Given the description of an element on the screen output the (x, y) to click on. 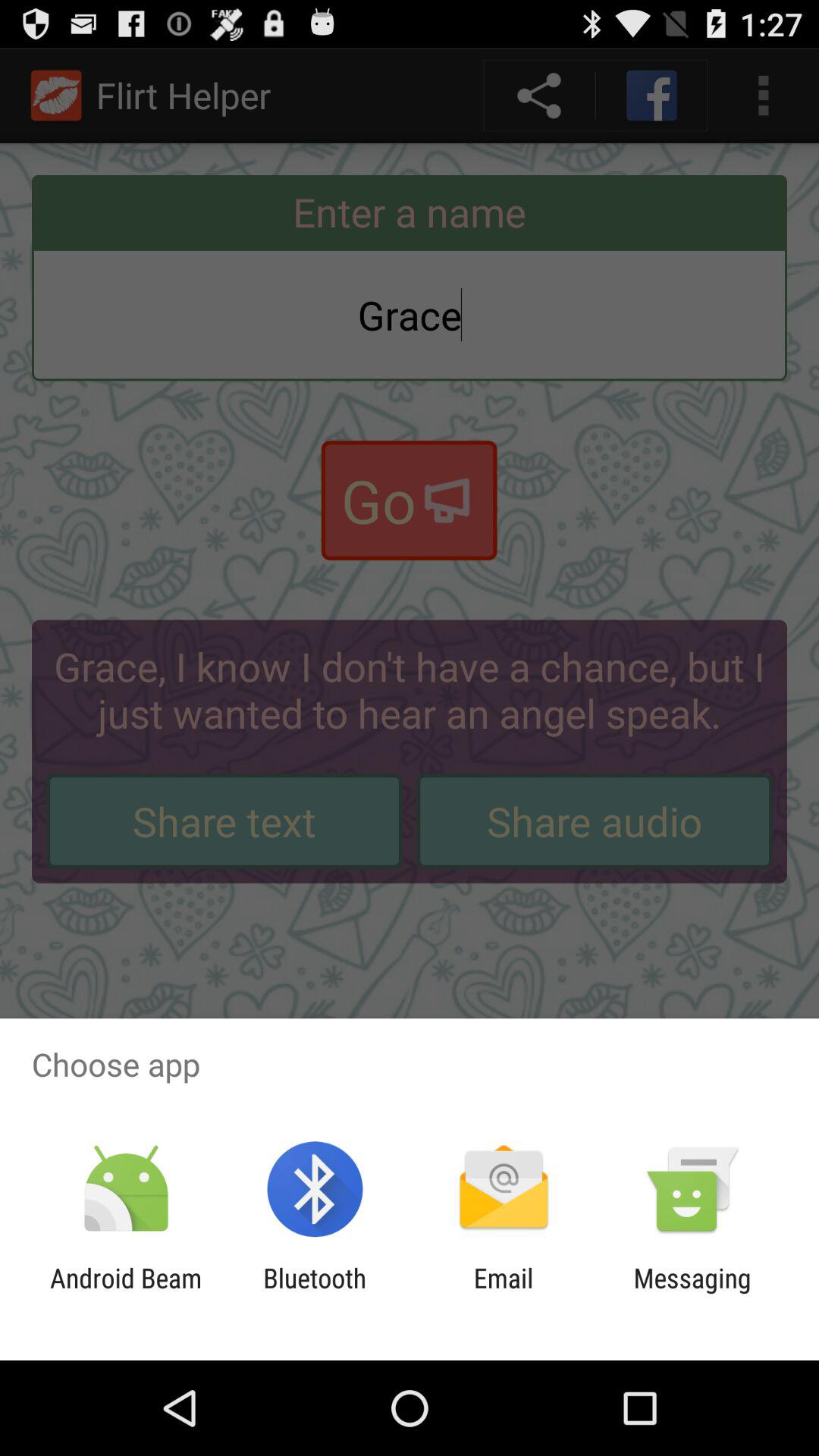
choose the app next to email (314, 1293)
